Given the description of an element on the screen output the (x, y) to click on. 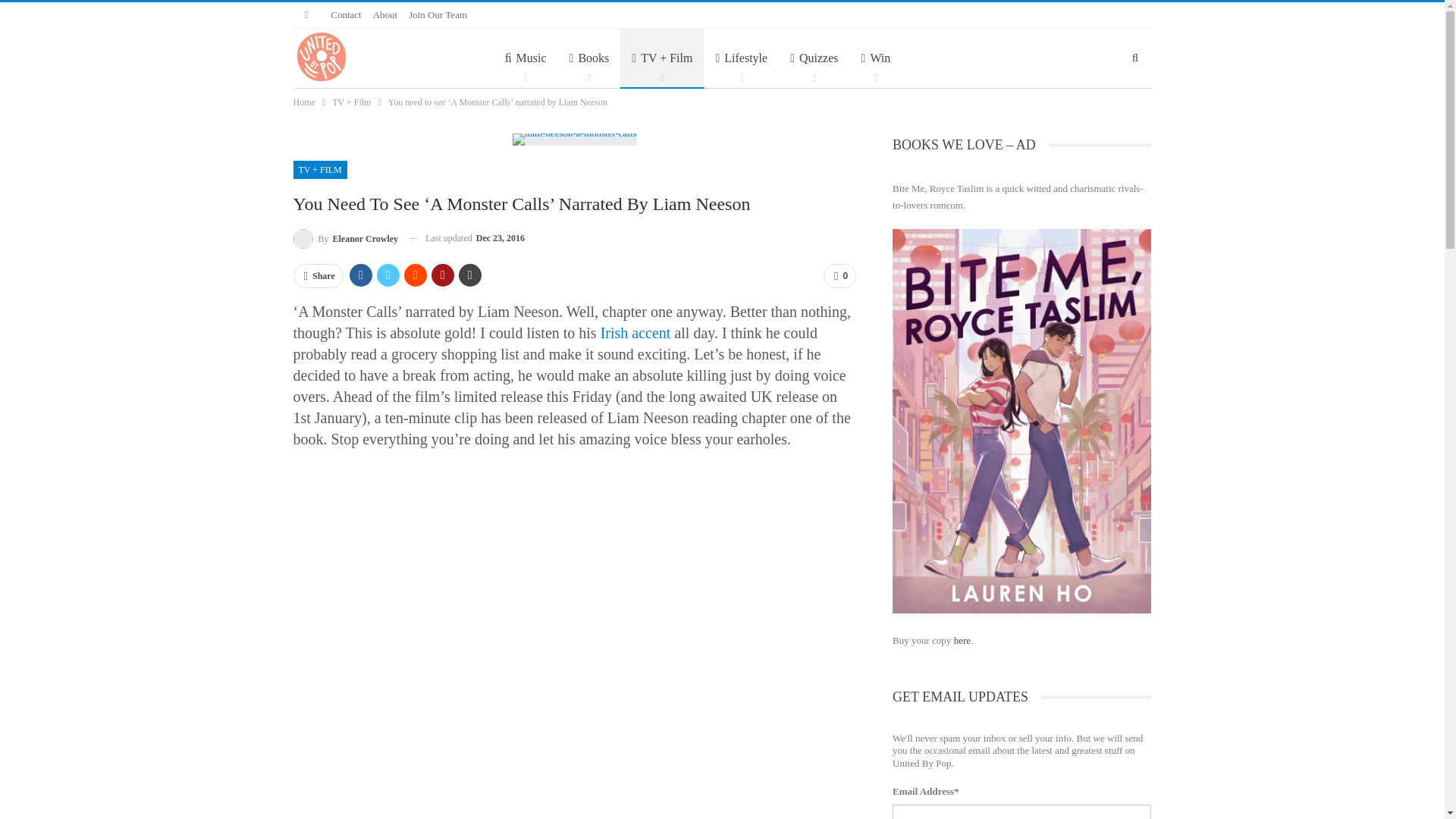
Join Our Team (438, 14)
Music (525, 57)
Music (525, 57)
Contact (345, 14)
Books (589, 57)
About (384, 14)
